Given the description of an element on the screen output the (x, y) to click on. 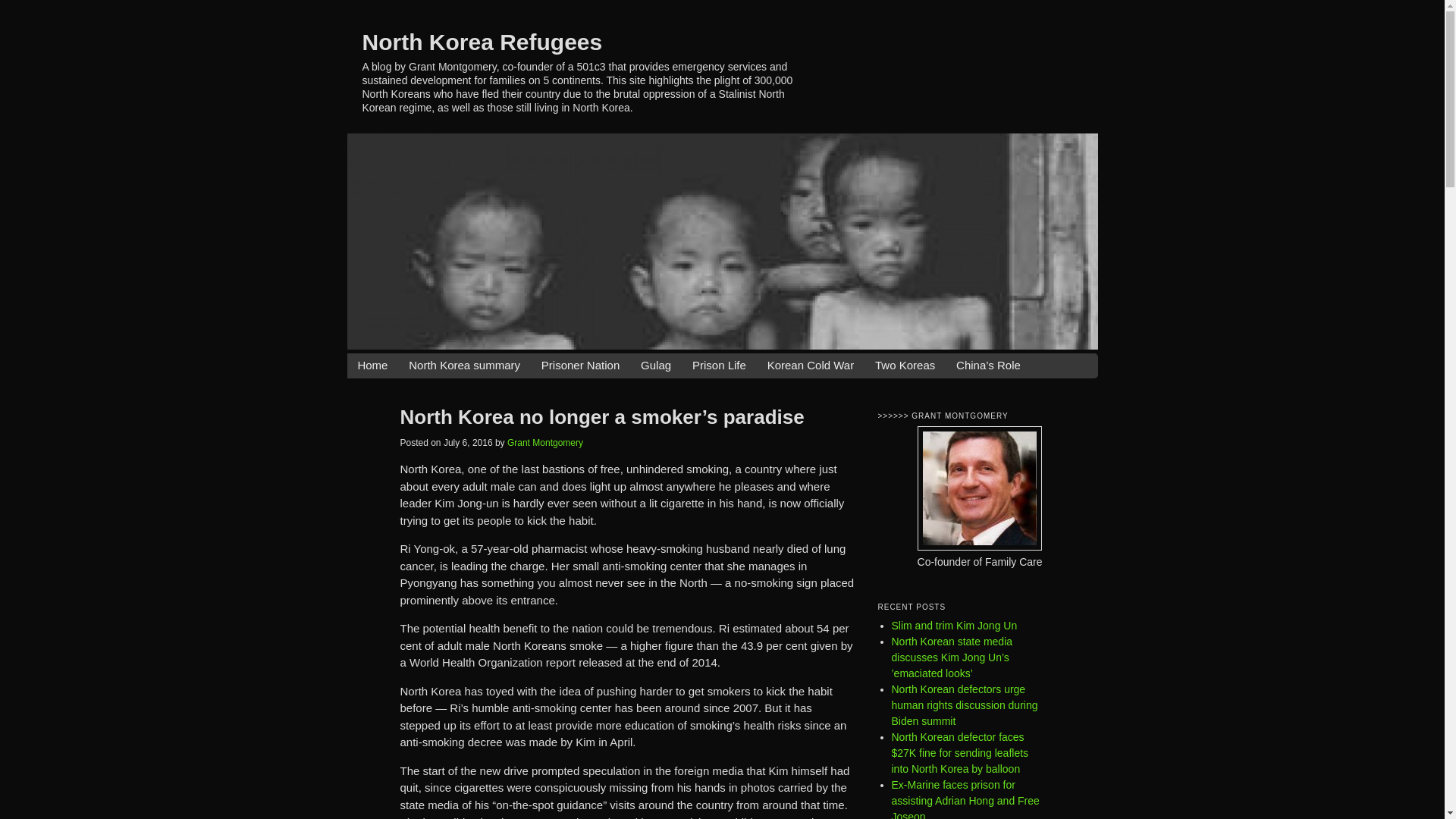
North Korea summary (464, 365)
Home (371, 365)
North Korea Refugees (482, 41)
Korean Cold War (810, 365)
Slim and trim Kim Jong Un (954, 625)
Prisoner Nation (580, 365)
Posts by Grant Montgomery (544, 442)
Gulag (655, 365)
